Given the description of an element on the screen output the (x, y) to click on. 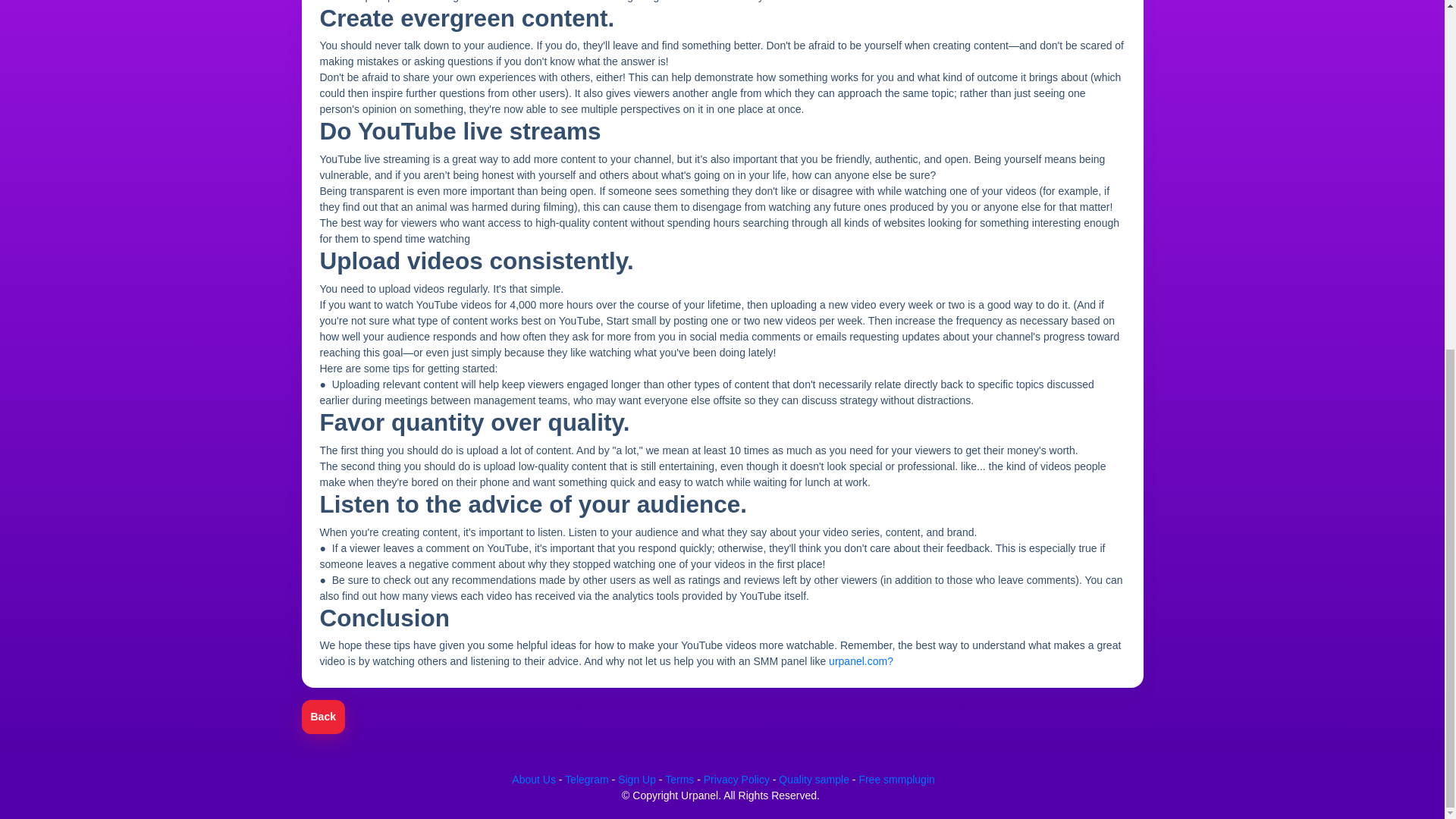
Sign Up (636, 779)
Telegram (586, 779)
Quality sample (813, 779)
Privacy Policy (736, 779)
urpanel.com? (860, 661)
 About Us (534, 779)
Free smmplugin (896, 779)
Back (323, 716)
Terms (679, 779)
